Given the description of an element on the screen output the (x, y) to click on. 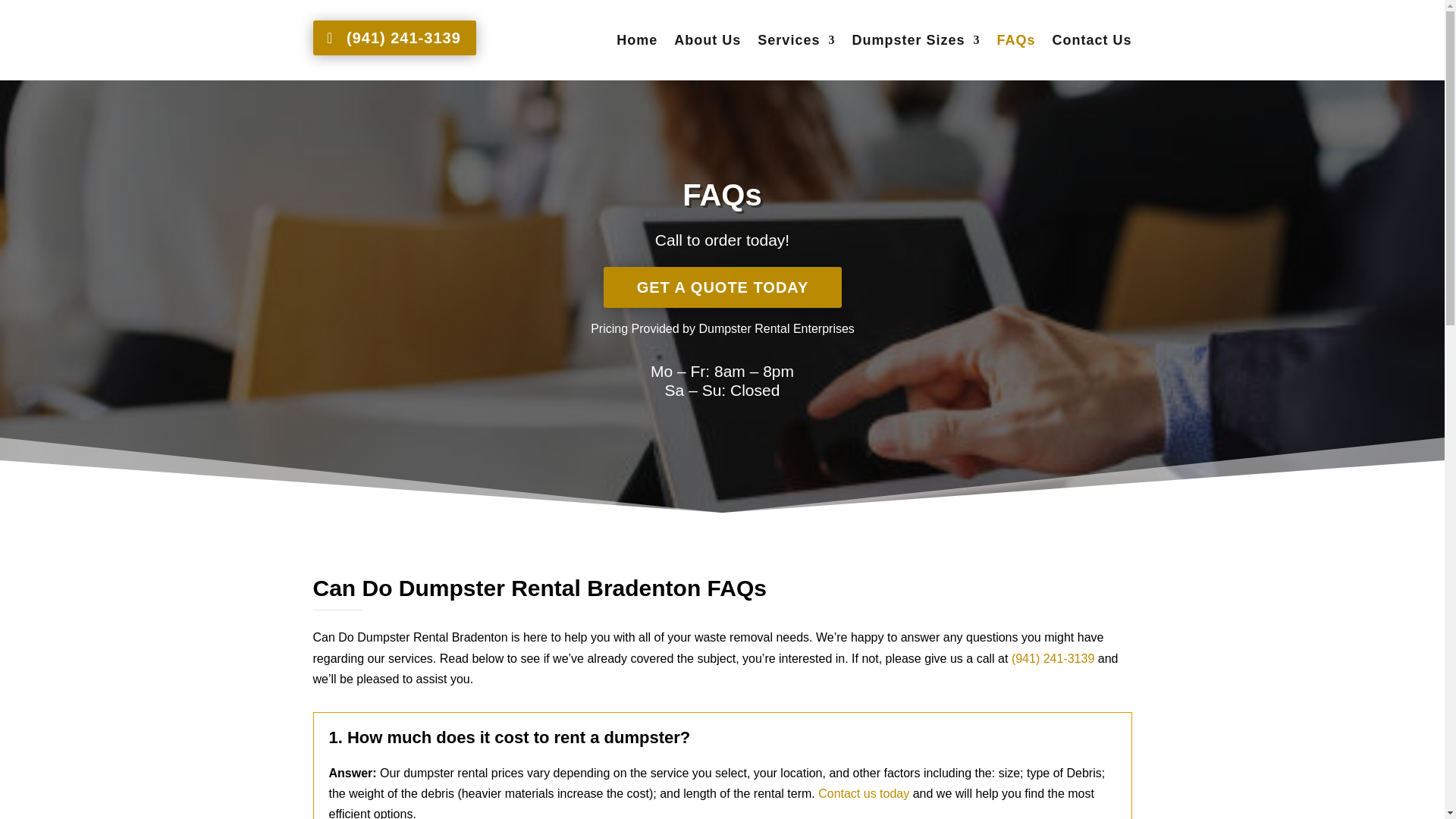
Contact Us (1091, 42)
Services (795, 42)
Home (636, 42)
About Us (707, 42)
Call Now (1052, 658)
Dumpster Sizes (915, 42)
FAQs (1015, 42)
Call Now (863, 793)
